Given the description of an element on the screen output the (x, y) to click on. 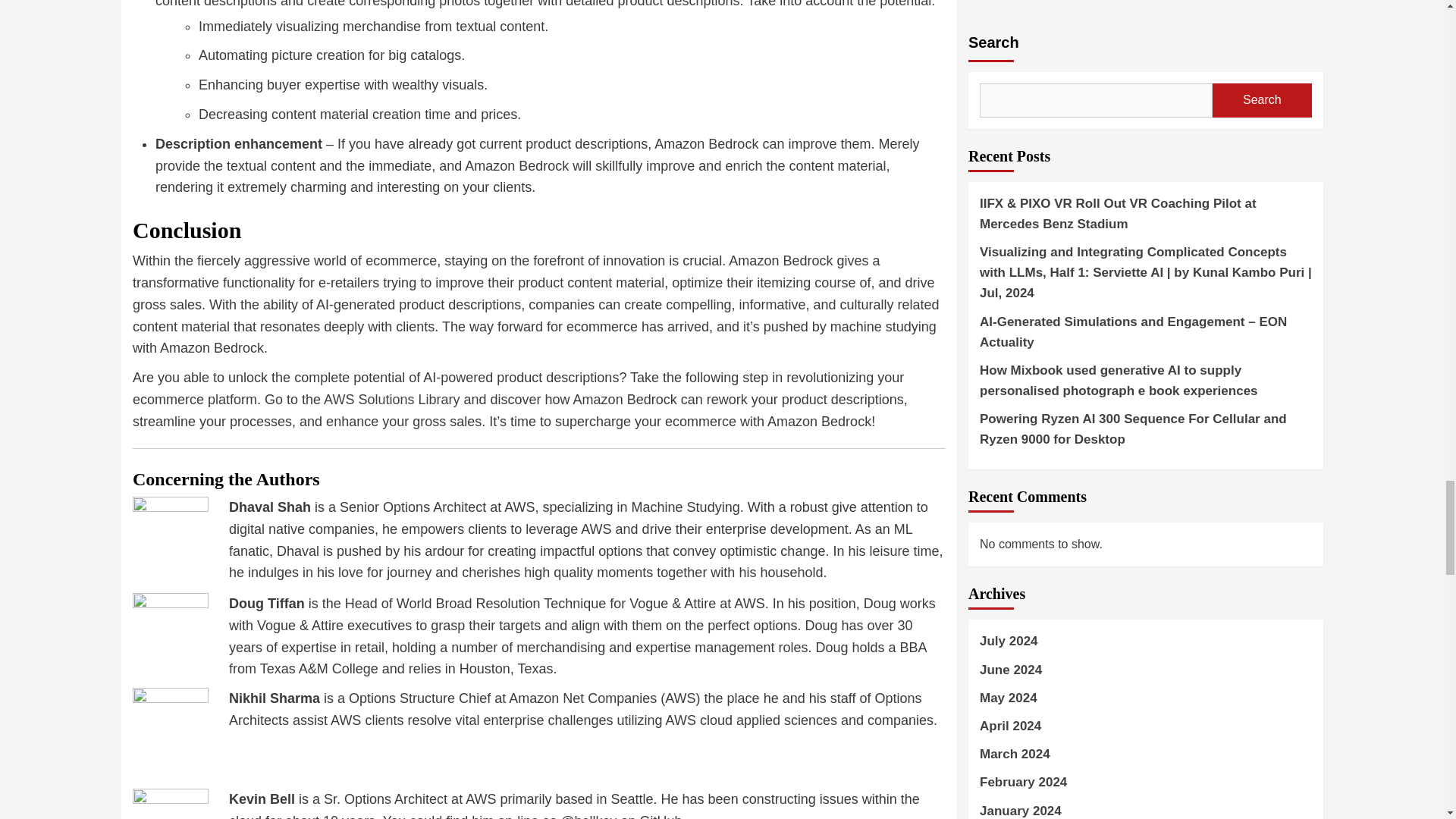
AWS Solutions Library (391, 399)
